Given the description of an element on the screen output the (x, y) to click on. 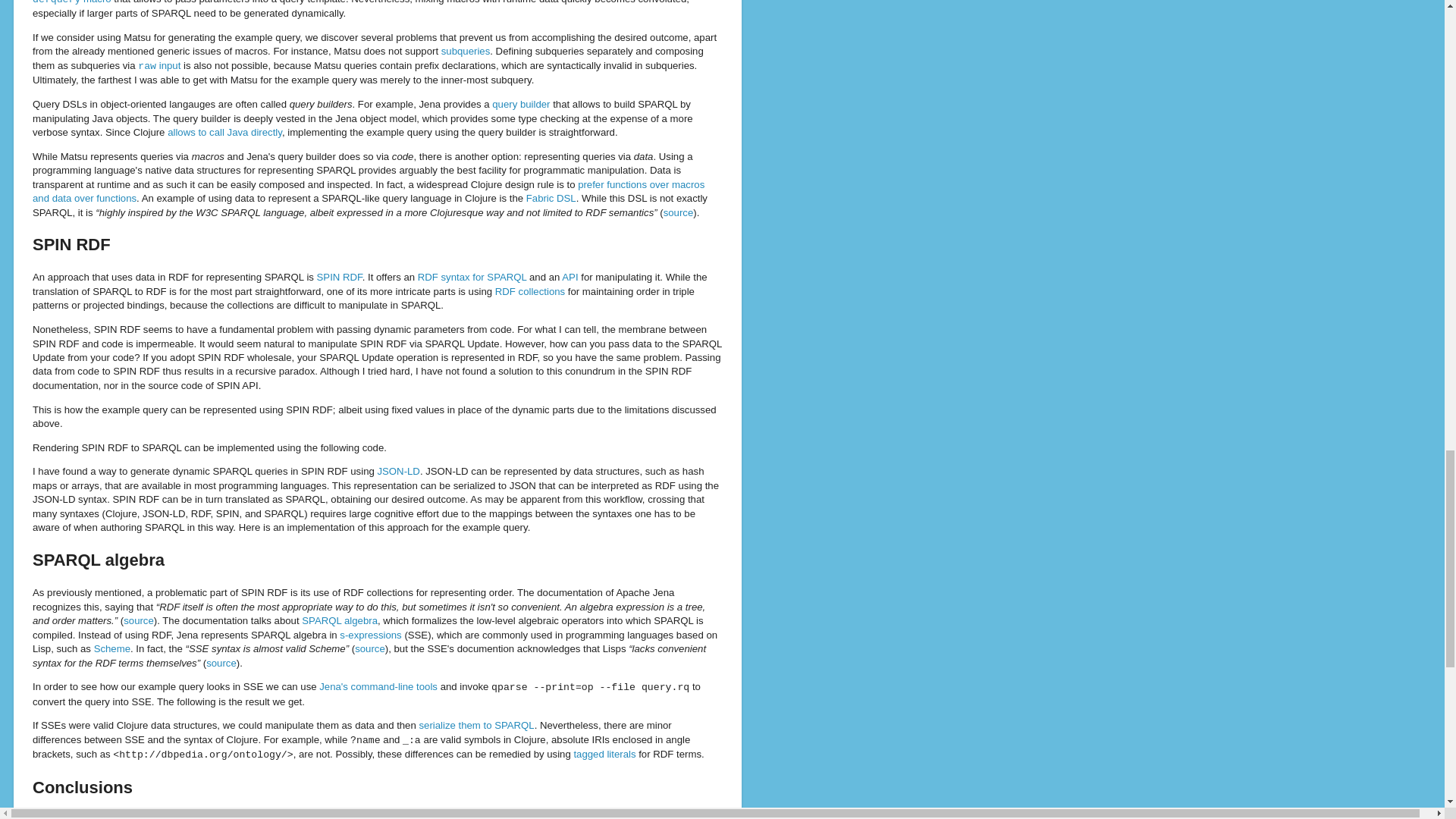
query builder (521, 103)
SPARQL algebra (339, 620)
raw input (159, 65)
API (570, 276)
source (370, 648)
allows to call Java directly (224, 132)
Scheme (112, 648)
subqueries (465, 50)
defquery macro (72, 2)
Fabric DSL (550, 197)
prefer functions over macros and data over functions (368, 191)
s-expressions (370, 634)
JSON-LD (398, 471)
source (678, 212)
SPIN RDF (339, 276)
